Given the description of an element on the screen output the (x, y) to click on. 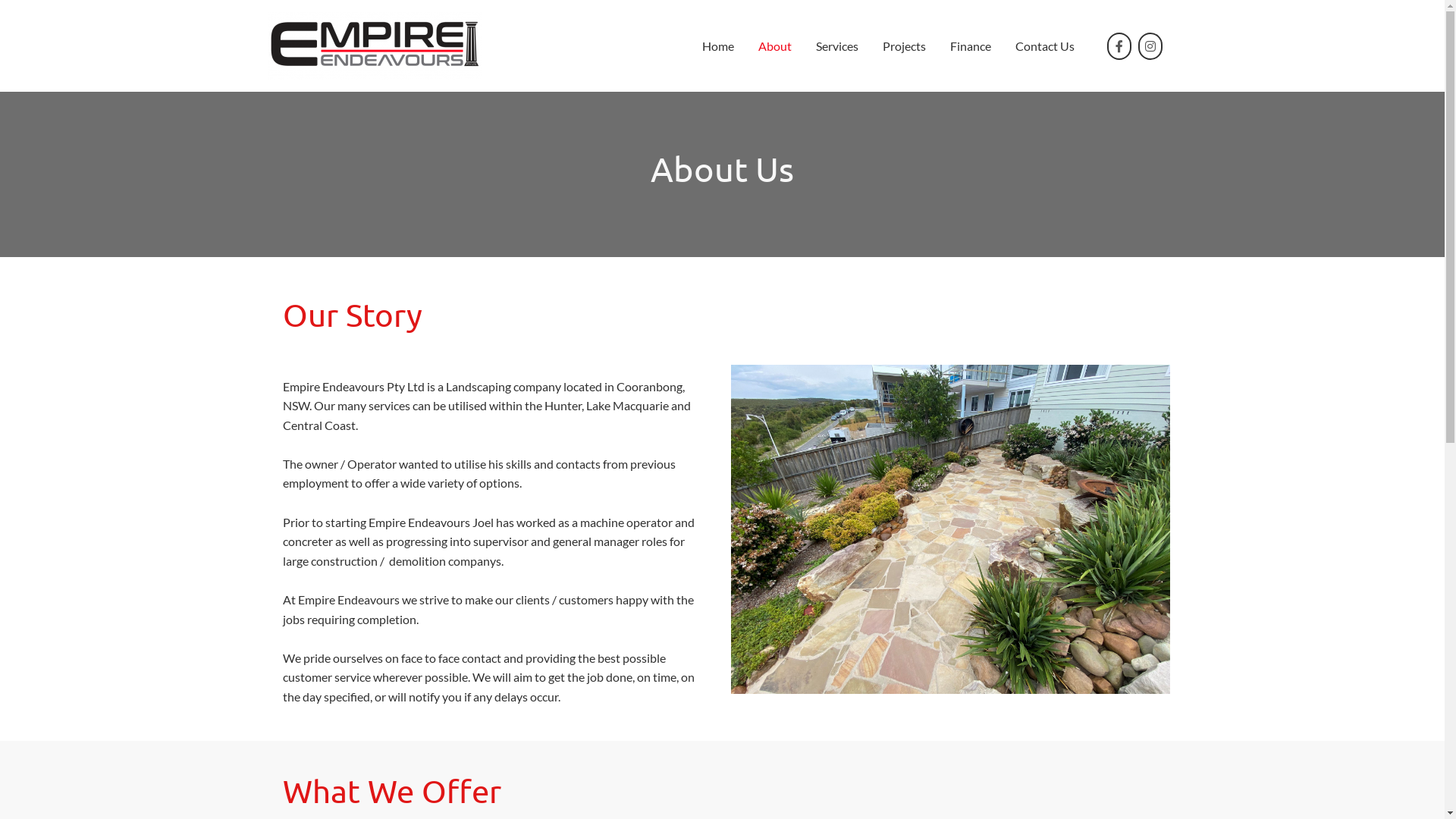
Finance Element type: text (970, 45)
About Element type: text (774, 45)
Projects Element type: text (904, 45)
sandstone crazy pave 1 Element type: hover (950, 528)
Home Element type: text (718, 45)
Contact Us Element type: text (1044, 45)
Services Element type: text (836, 45)
Empire Endeavours on Instagram Element type: hover (1150, 45)
Empire Endeavours on Facebook Element type: hover (1119, 45)
